Given the description of an element on the screen output the (x, y) to click on. 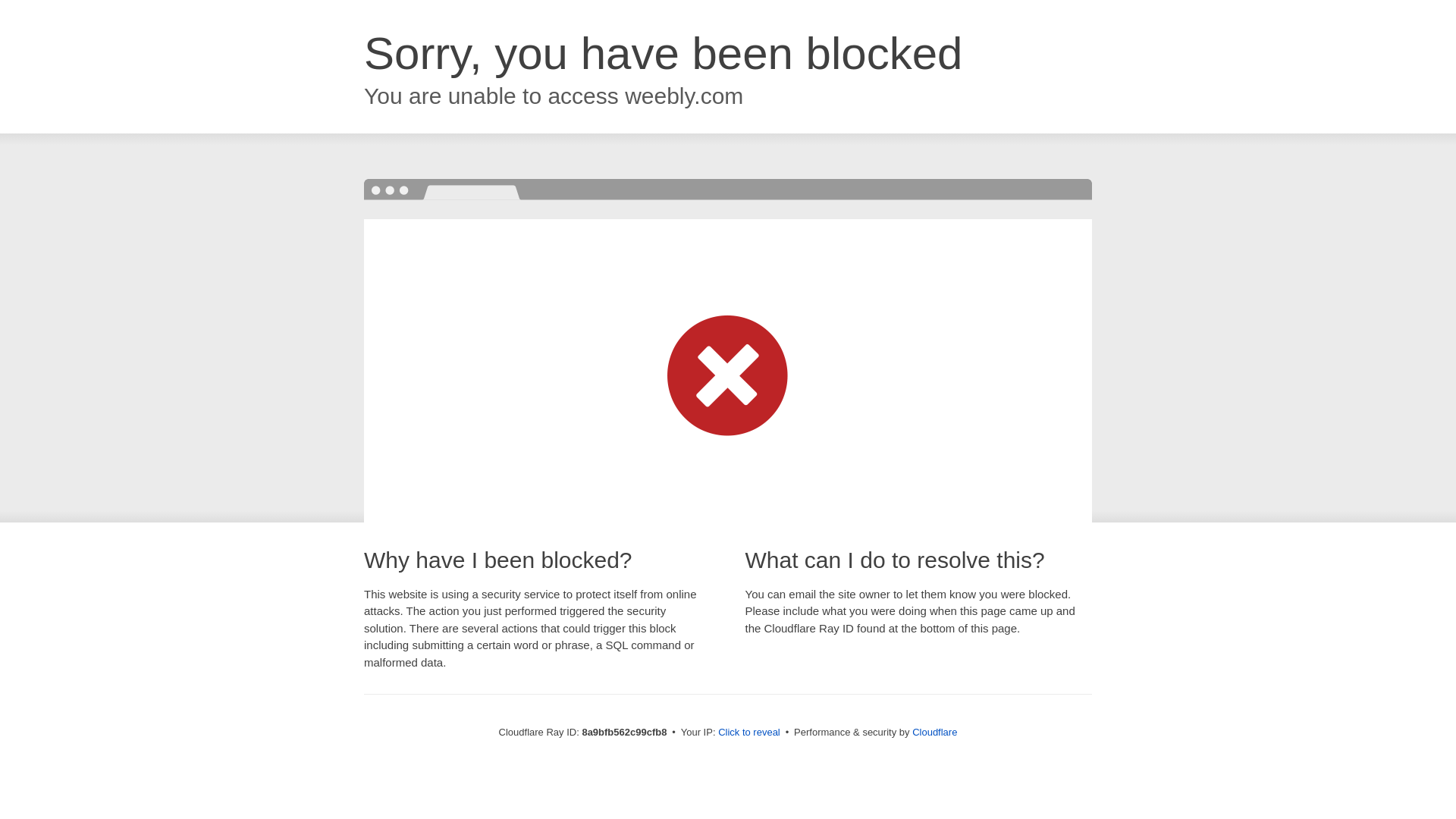
Cloudflare (934, 731)
Click to reveal (748, 732)
